Given the description of an element on the screen output the (x, y) to click on. 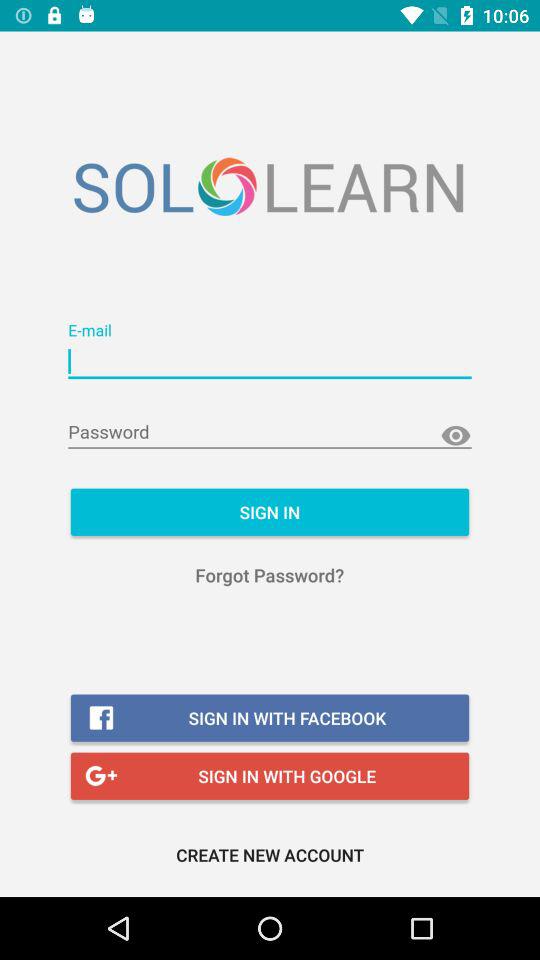
swipe to forgot password? (269, 574)
